Given the description of an element on the screen output the (x, y) to click on. 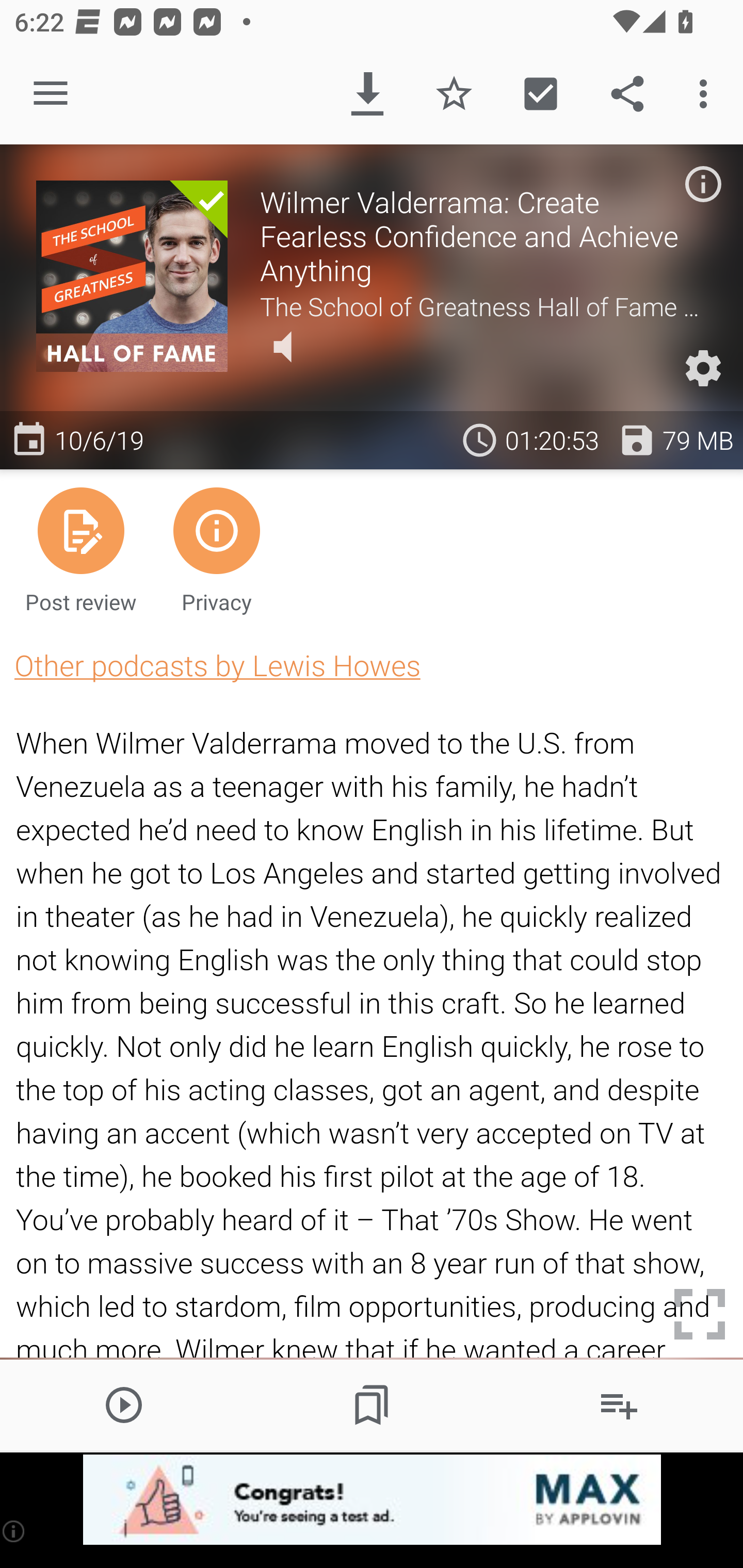
Open navigation sidebar (50, 93)
Download (366, 93)
Favorite (453, 93)
Mark played / unplayed (540, 93)
Share (626, 93)
More options (706, 93)
Podcast description (703, 184)
Custom Settings (703, 368)
Post review (81, 549)
Privacy (216, 549)
Other podcasts by Lewis Howes (217, 665)
Toggle full screen mode (699, 1314)
Play (123, 1404)
Chapters / Bookmarks (371, 1404)
Add to Playlist (619, 1404)
app-monetization (371, 1500)
(i) (14, 1531)
